Given the description of an element on the screen output the (x, y) to click on. 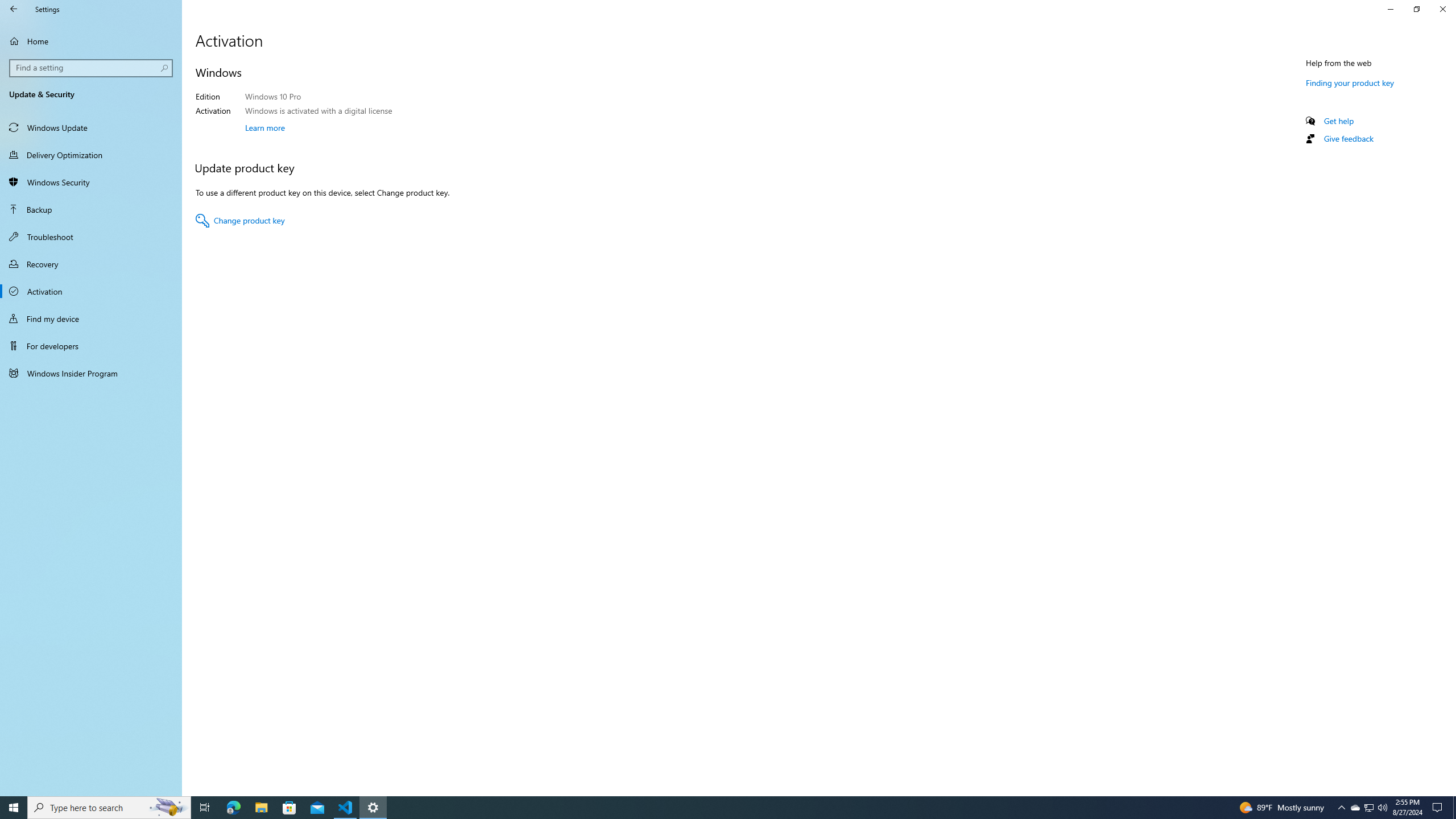
User Promoted Notification Area (1368, 807)
Recovery (91, 263)
Type here to search (108, 807)
Task View (1355, 807)
Backup (204, 807)
Show desktop (91, 208)
Minimize Settings (1454, 807)
Finding your product key (1390, 9)
Windows Security (1349, 82)
